Given the description of an element on the screen output the (x, y) to click on. 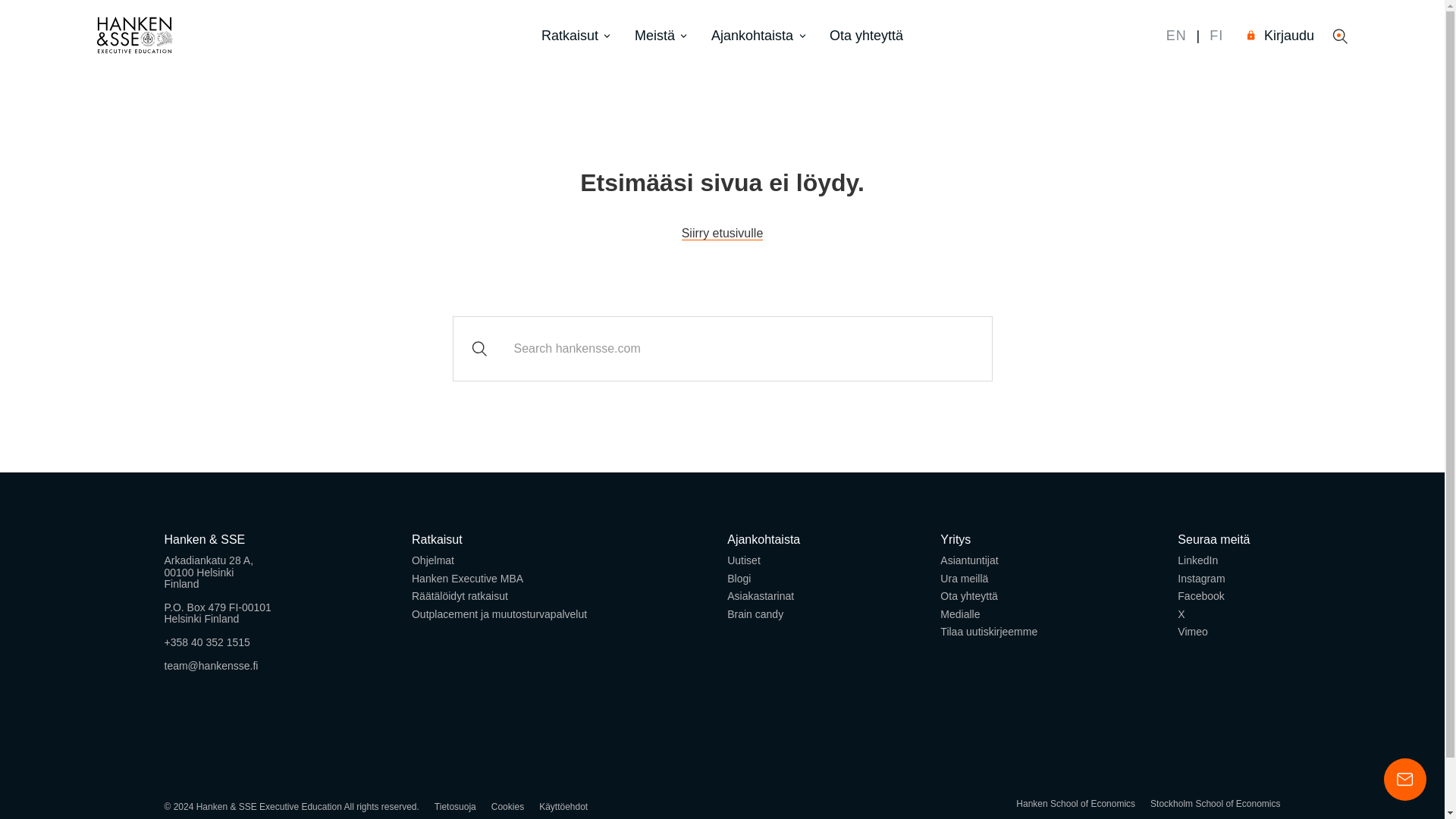
Home (721, 233)
Go to Google Maps (216, 595)
Siirry Hanken Executive MBA (467, 578)
Go to Login page (1280, 36)
Siirry Outplacement ja muutosturvapalvelut (499, 613)
ion-android-lock - Ionicons Created with Sketch. Kirjaudu (1280, 36)
Siirry Ohjelmat (433, 560)
Siirry Ratkaisut (437, 540)
EN (1176, 35)
Home (135, 36)
